Given the description of an element on the screen output the (x, y) to click on. 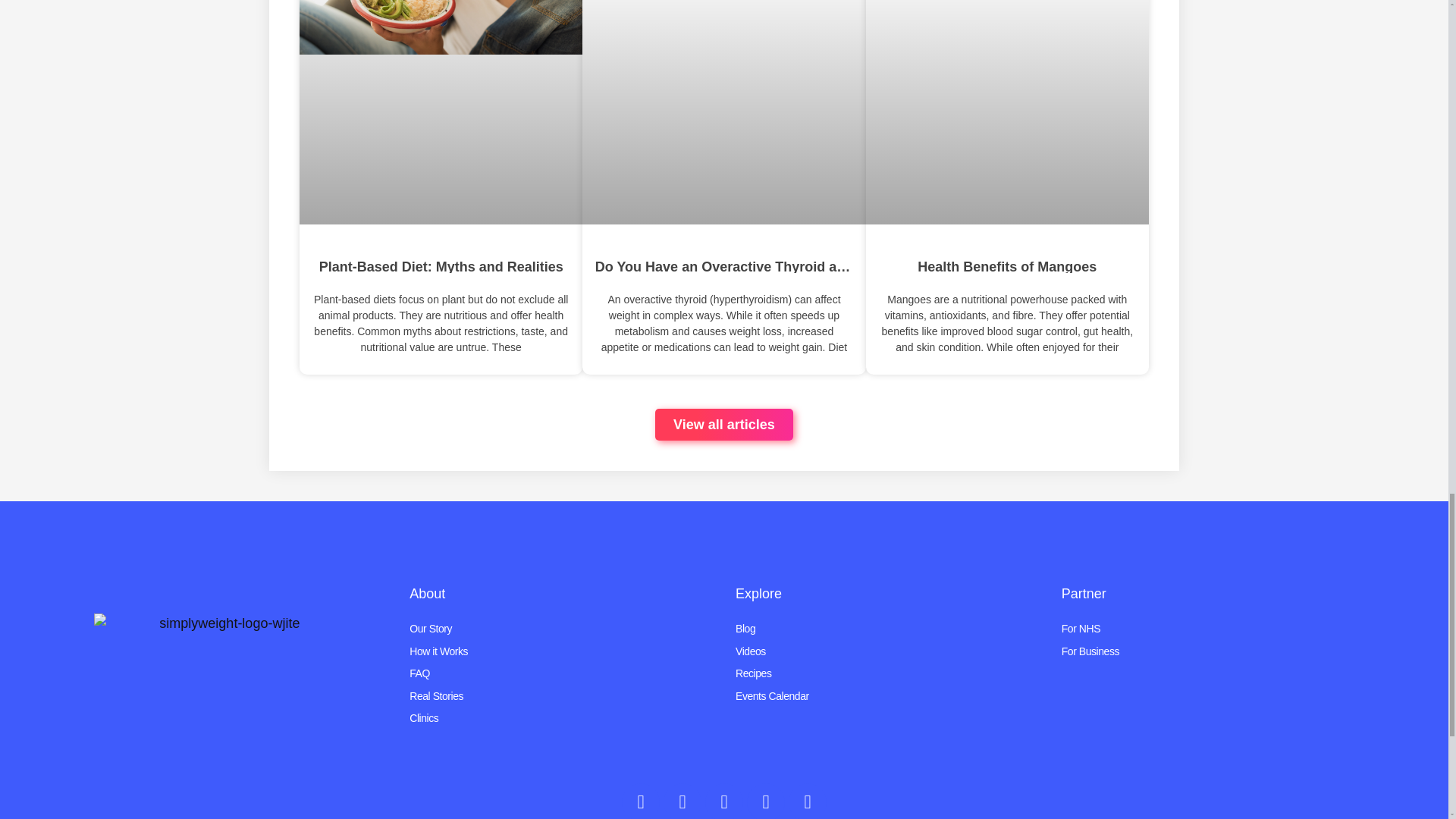
Our Story (561, 628)
FAQ (561, 673)
View all articles (724, 424)
How it Works (561, 650)
Real Stories (561, 695)
Health Benefits of Mangoes (1007, 263)
Clinics (561, 718)
Plant-Based Diet: Myths and Realities (440, 263)
